Given the description of an element on the screen output the (x, y) to click on. 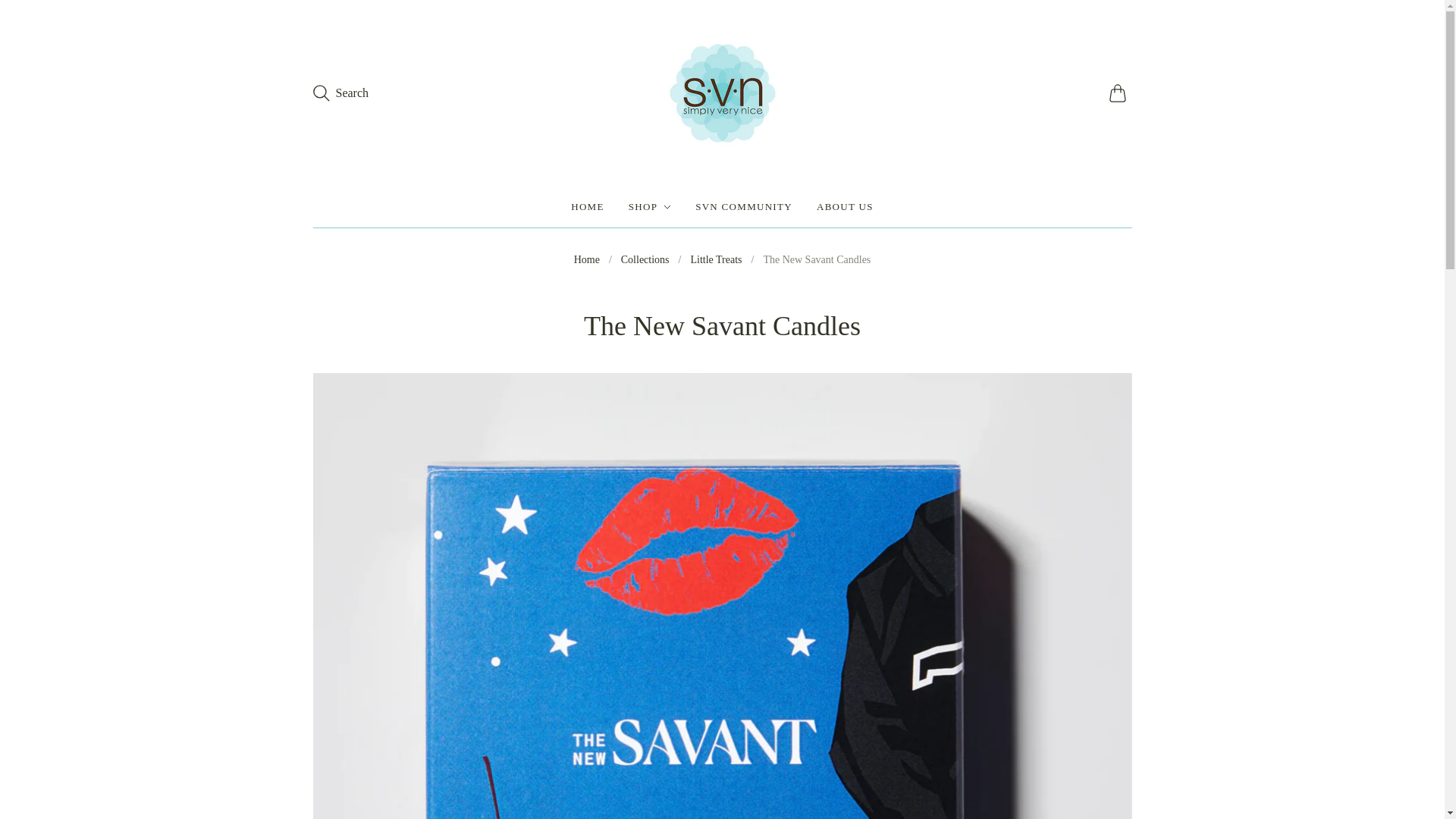
HOME (587, 206)
Cart (1119, 92)
ABOUT US (844, 206)
Search (339, 92)
Little Treats (715, 259)
Collections (645, 259)
Home (586, 259)
SVN COMMUNITY (743, 206)
